Given the description of an element on the screen output the (x, y) to click on. 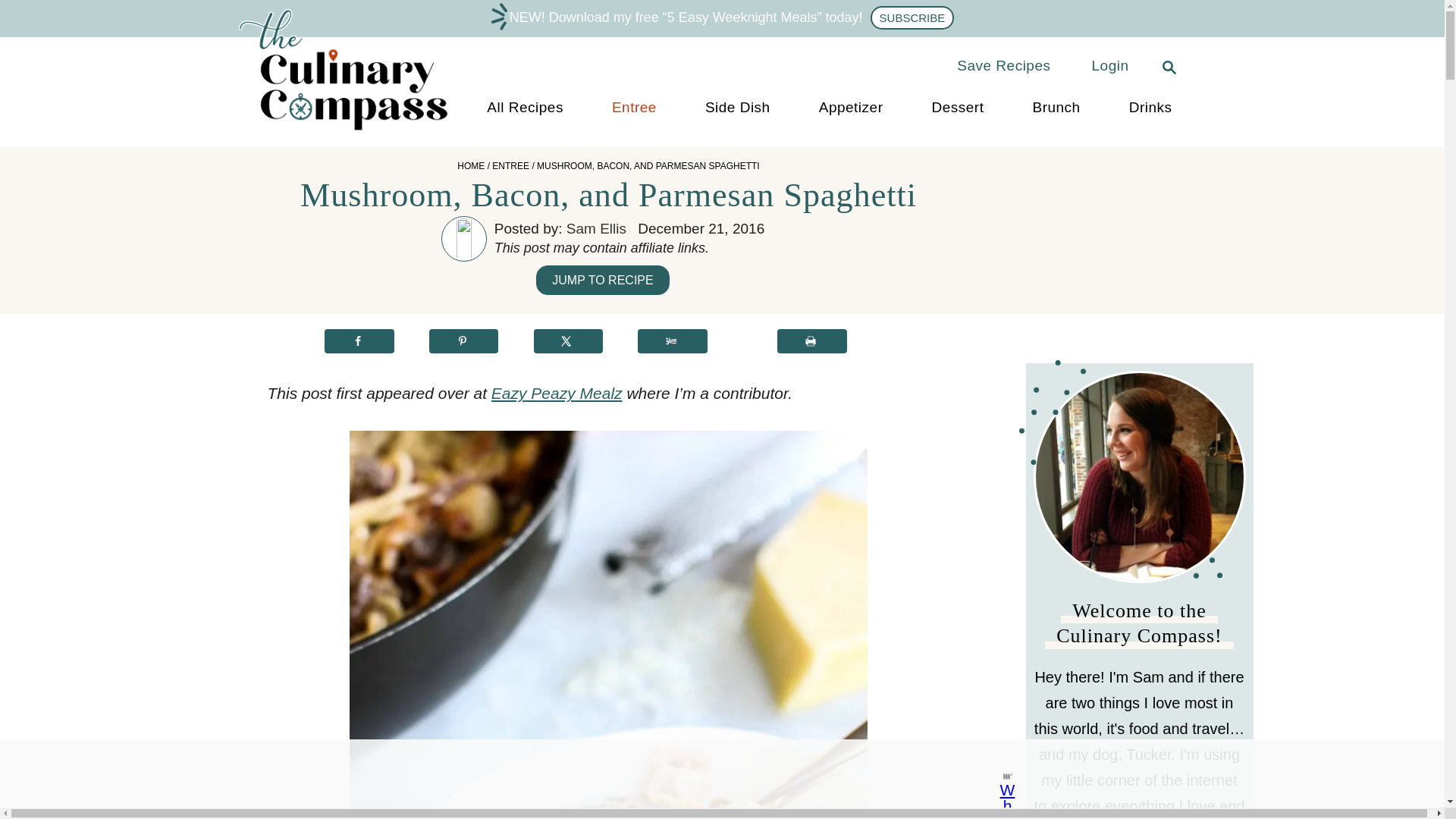
Side Dish (737, 107)
All Recipes (524, 107)
Entree (634, 107)
Save Recipes (1003, 65)
Dessert (957, 107)
Brunch (1055, 107)
JUMP TO RECIPE (601, 279)
Print this webpage (812, 340)
Sam Ellis (596, 228)
Share on X (569, 340)
Login (1110, 65)
HOME (470, 165)
ENTREE (510, 165)
The Culinary Compass (357, 130)
Drinks (1150, 107)
